Given the description of an element on the screen output the (x, y) to click on. 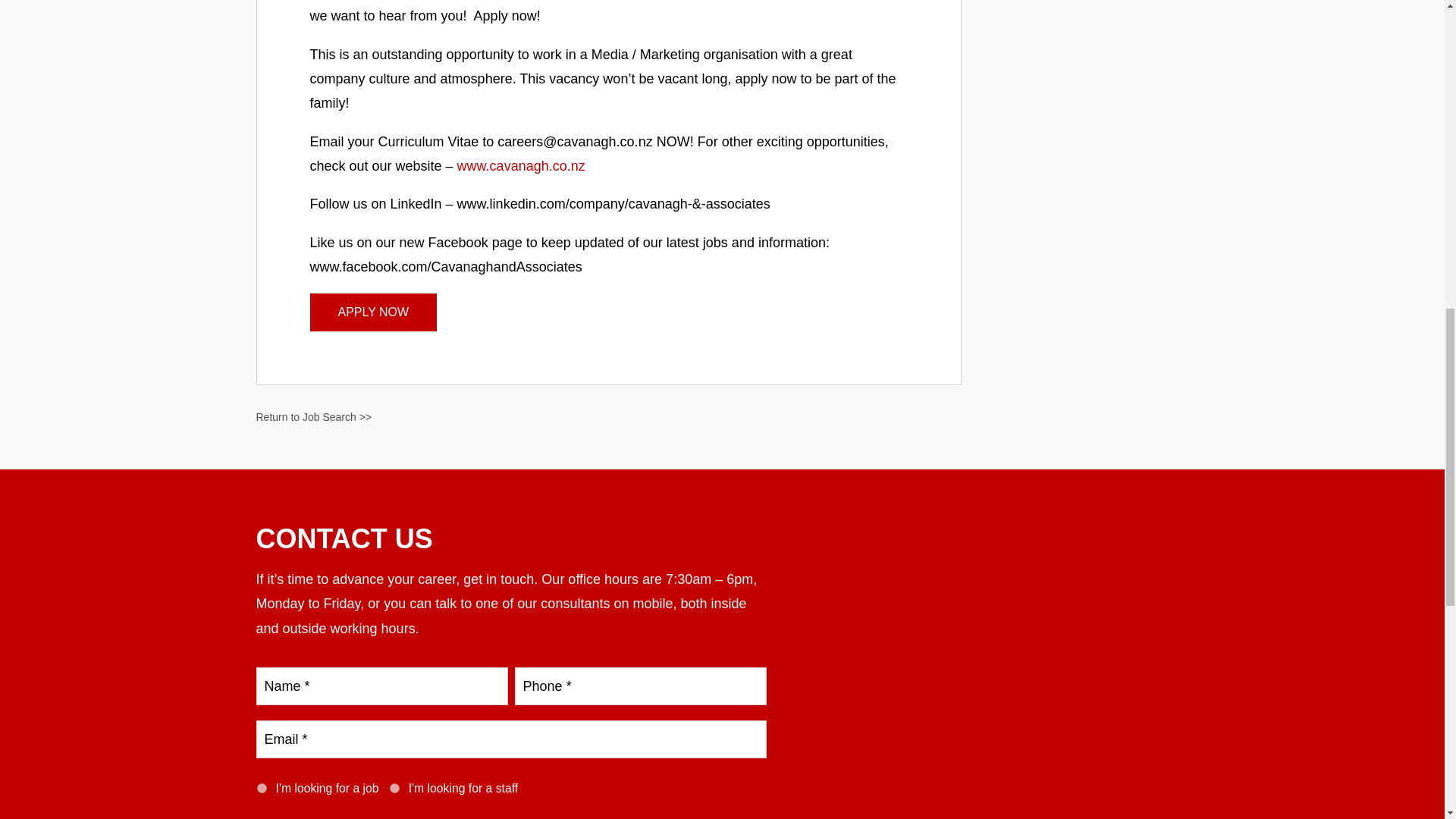
www.cavanagh.co.nz (521, 165)
Staff (394, 787)
APPLY NOW (372, 312)
Job (261, 787)
